Given the description of an element on the screen output the (x, y) to click on. 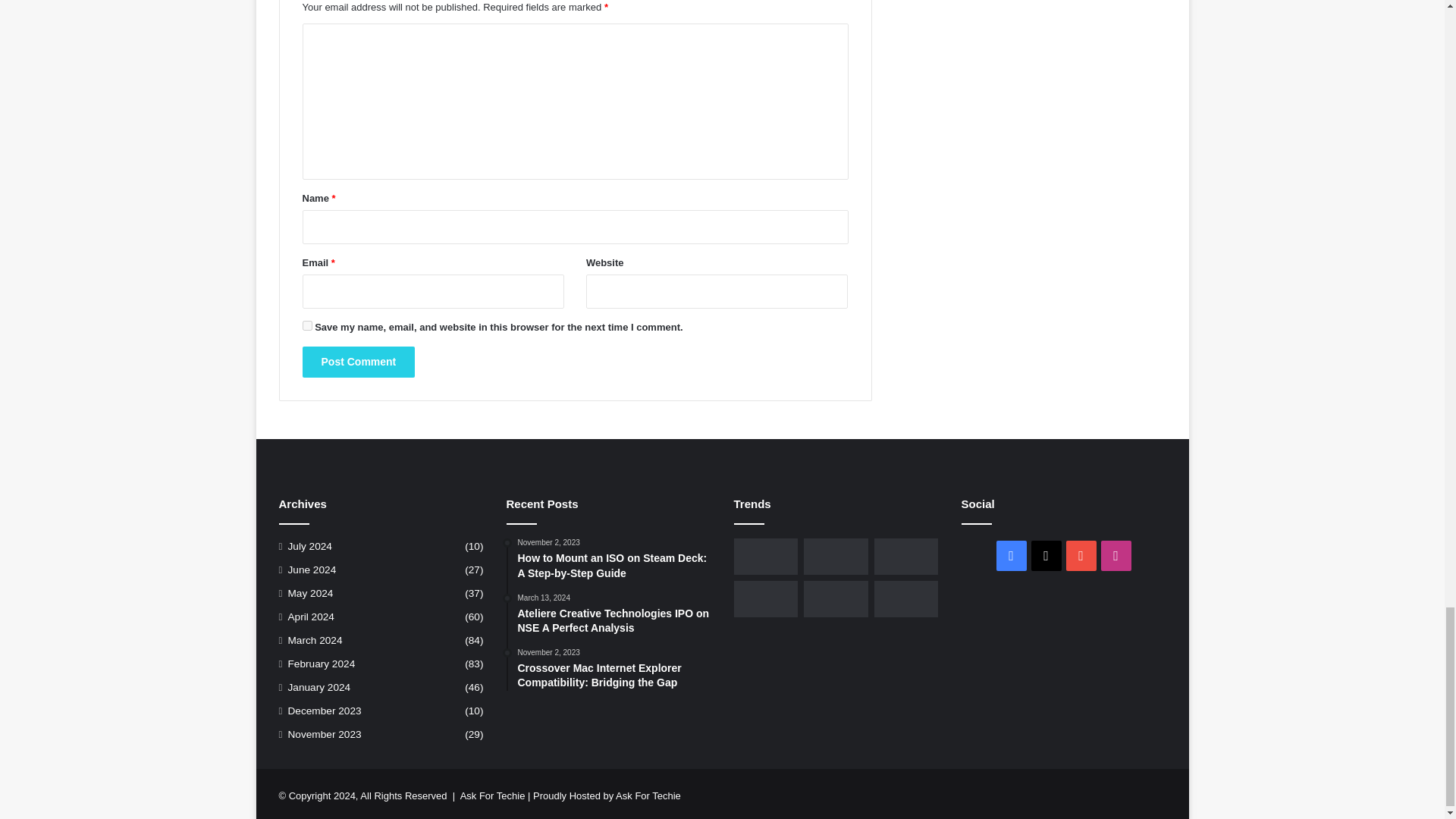
Post Comment (357, 361)
yes (306, 325)
Post Comment (357, 361)
